Given the description of an element on the screen output the (x, y) to click on. 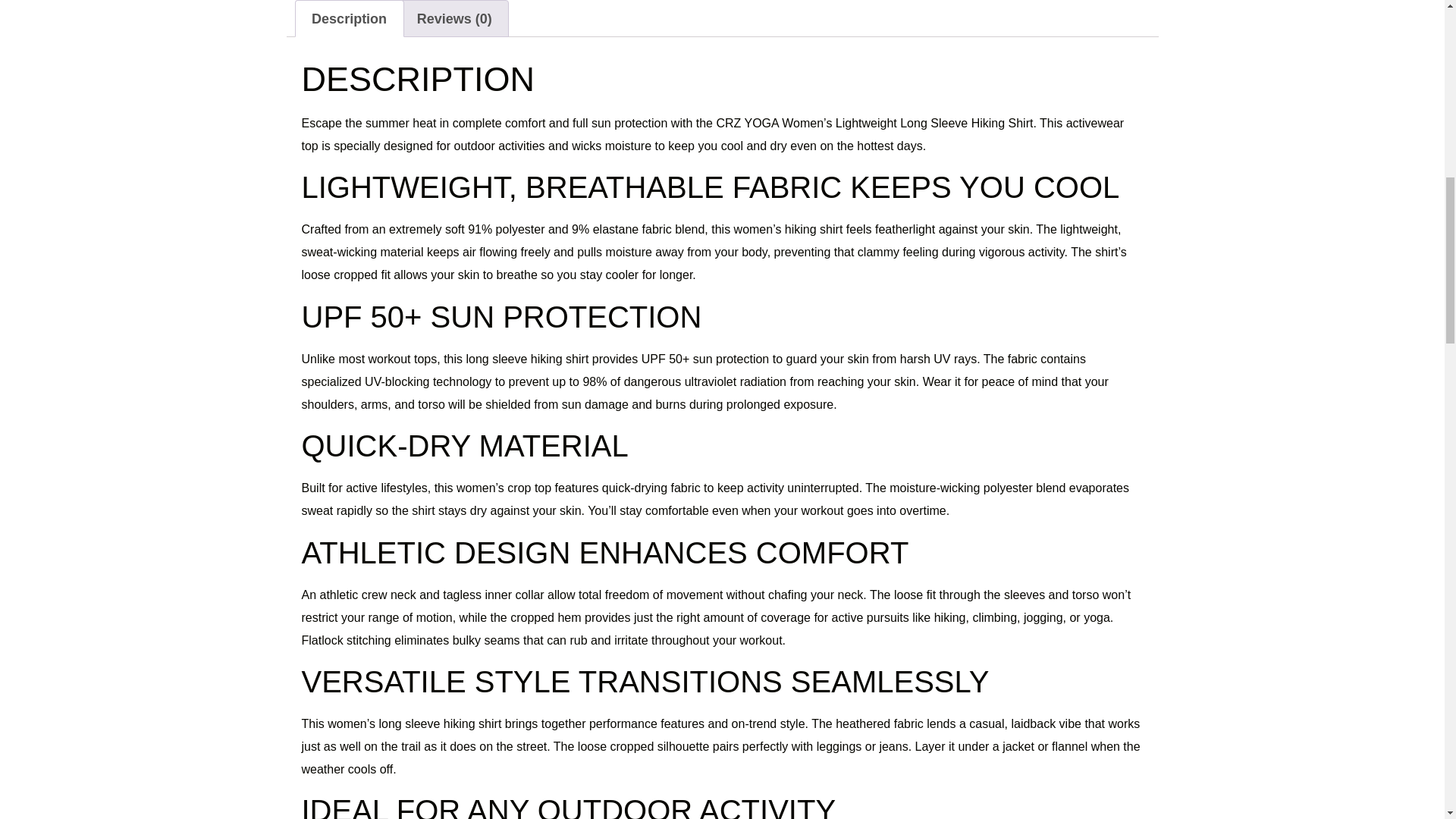
Description (349, 18)
